Given the description of an element on the screen output the (x, y) to click on. 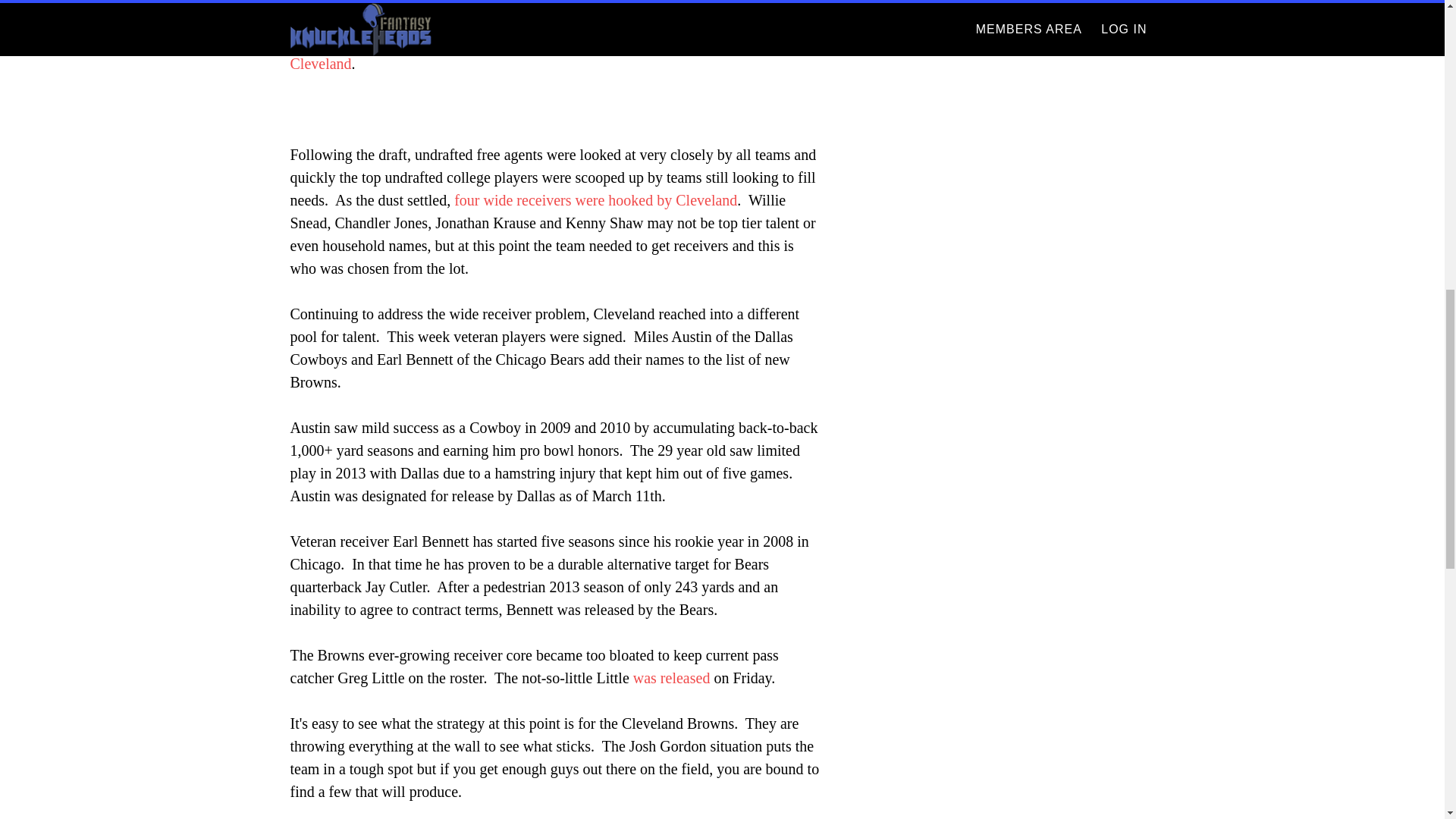
Johnny Cleveland (542, 52)
Greg Little Released By Cleveland (671, 677)
four wide receivers were hooked by Cleveland (595, 199)
was released (671, 677)
Introducing Johnny Cleveland (542, 52)
